Given the description of an element on the screen output the (x, y) to click on. 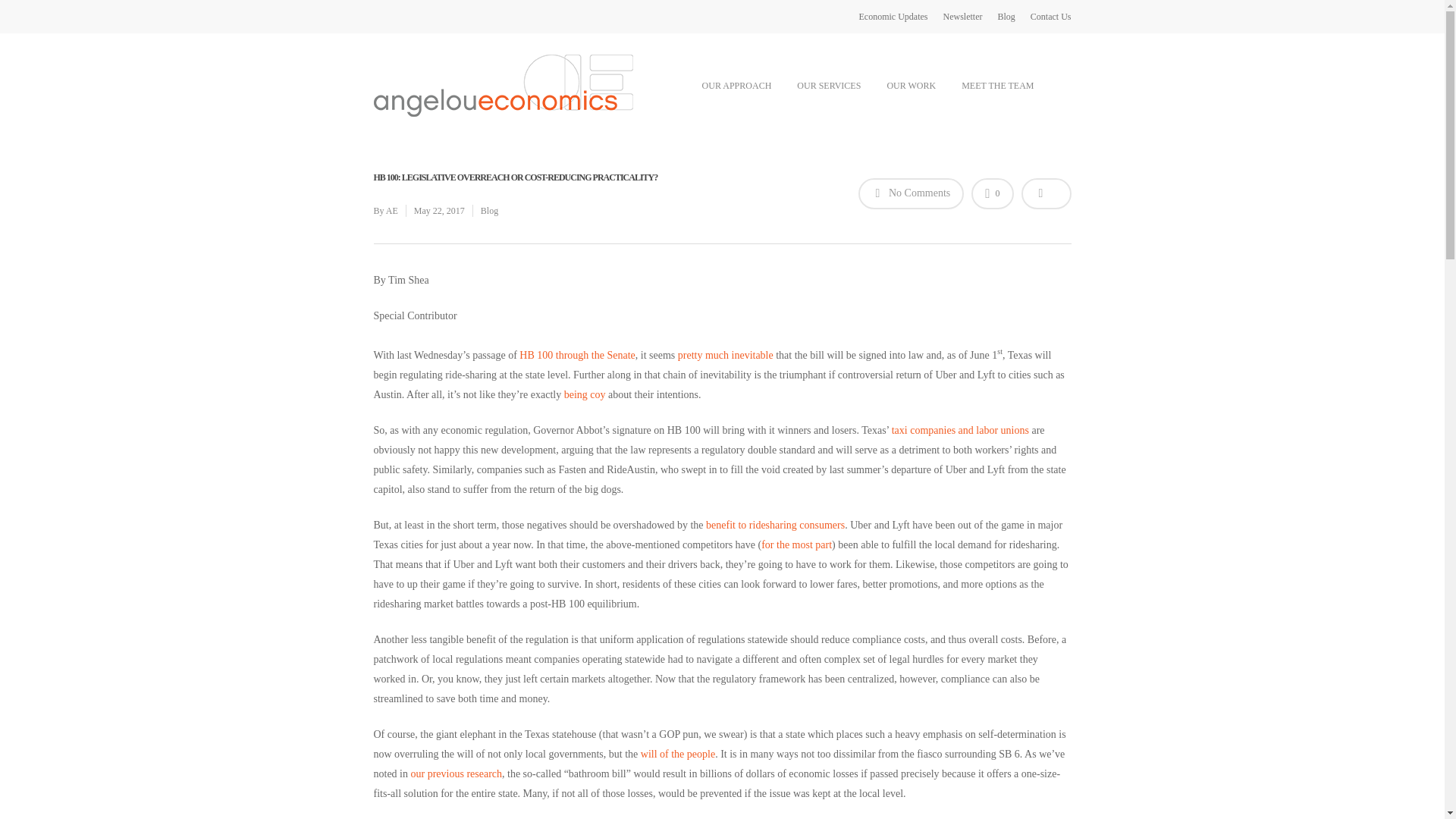
benefit to ridesharing consumers (775, 524)
Economic Updates (893, 16)
Contact Us (1050, 16)
MEET THE TEAM (997, 85)
will of the people (677, 754)
Blog (488, 210)
OUR APPROACH (737, 85)
our previous research (456, 773)
OUR SERVICES (828, 85)
Posts by AE (391, 210)
OUR WORK (911, 85)
Love this (992, 193)
No Comments (911, 193)
for the most part (796, 544)
AE (391, 210)
